Given the description of an element on the screen output the (x, y) to click on. 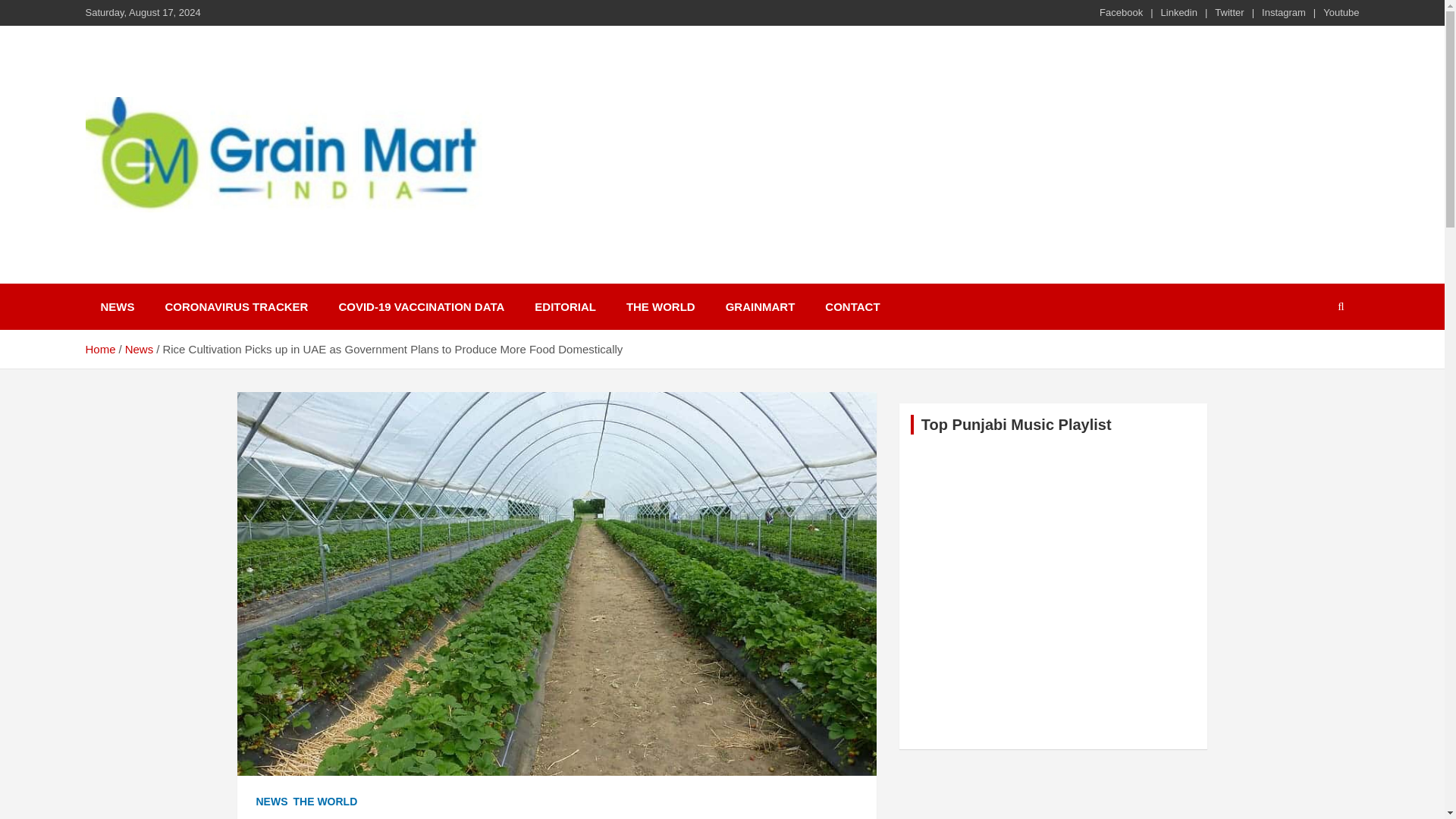
NEWS (116, 306)
Home (99, 349)
THE WORLD (324, 801)
Linkedin (1178, 12)
CORONAVIRUS TRACKER (236, 306)
News (139, 349)
Grainmart News (200, 231)
COVID-19 VACCINATION DATA (421, 306)
THE WORLD (660, 306)
